Given the description of an element on the screen output the (x, y) to click on. 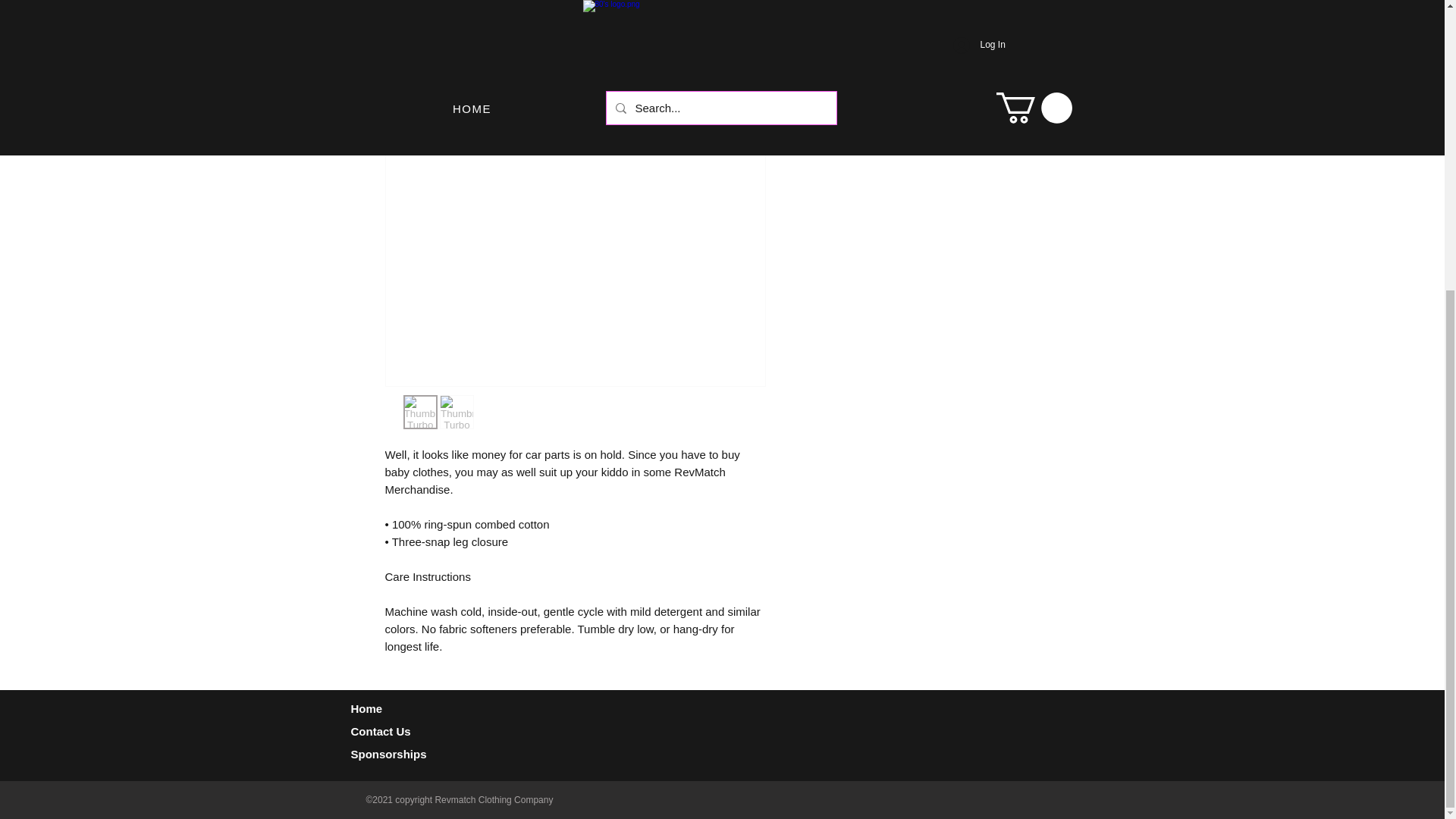
Sponsorships (388, 753)
Home  (367, 707)
Contact Us (380, 730)
Add to Cart (906, 40)
Buy Now (924, 80)
